Given the description of an element on the screen output the (x, y) to click on. 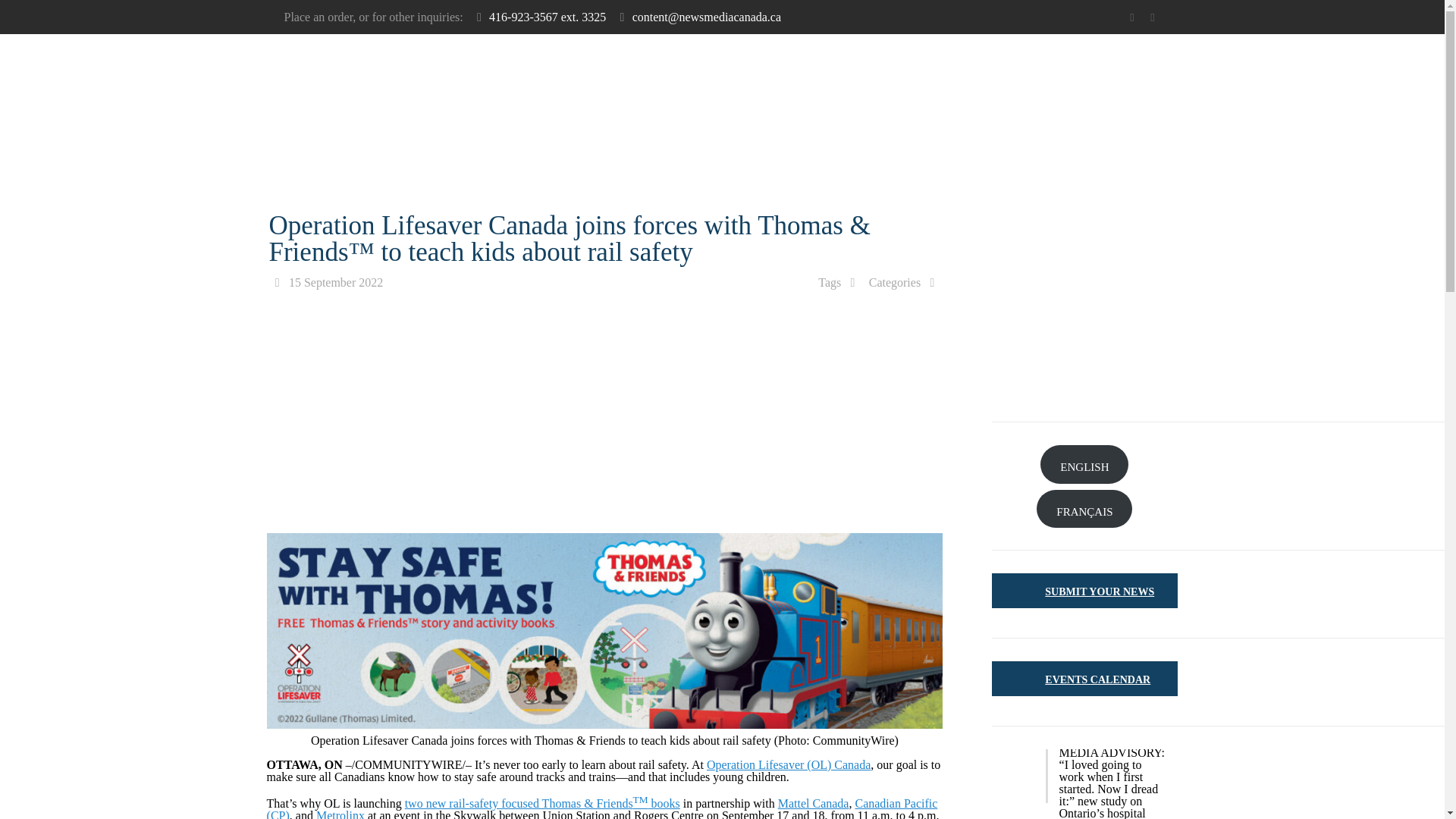
Metrolinx (340, 814)
Twitter (1132, 17)
Mattel Canada (812, 802)
416-923-3567 ext. 3325 (547, 16)
RSS (1152, 17)
